Given the description of an element on the screen output the (x, y) to click on. 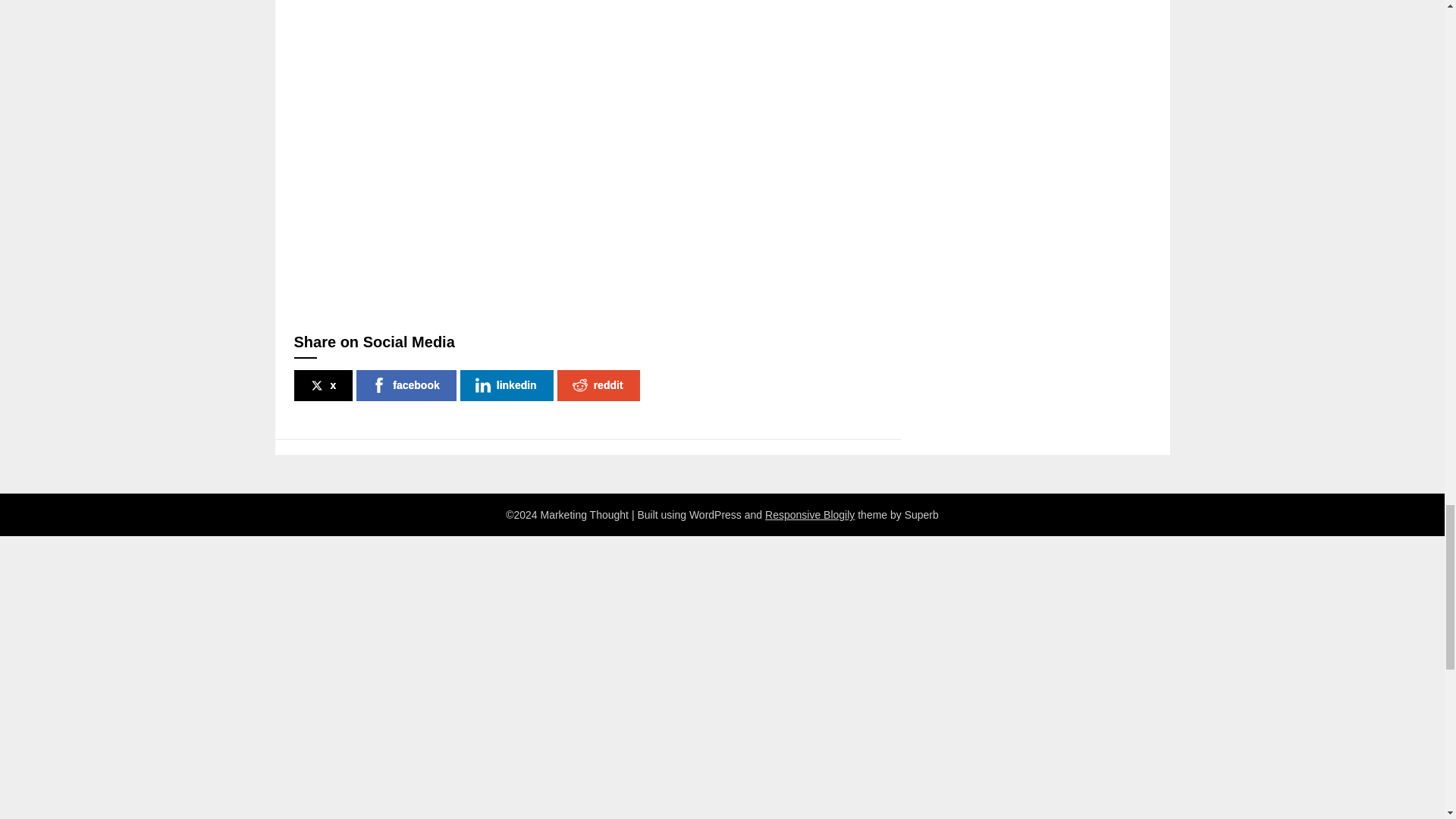
linkedin (506, 385)
reddit (598, 385)
facebook (405, 385)
x (323, 385)
